Given the description of an element on the screen output the (x, y) to click on. 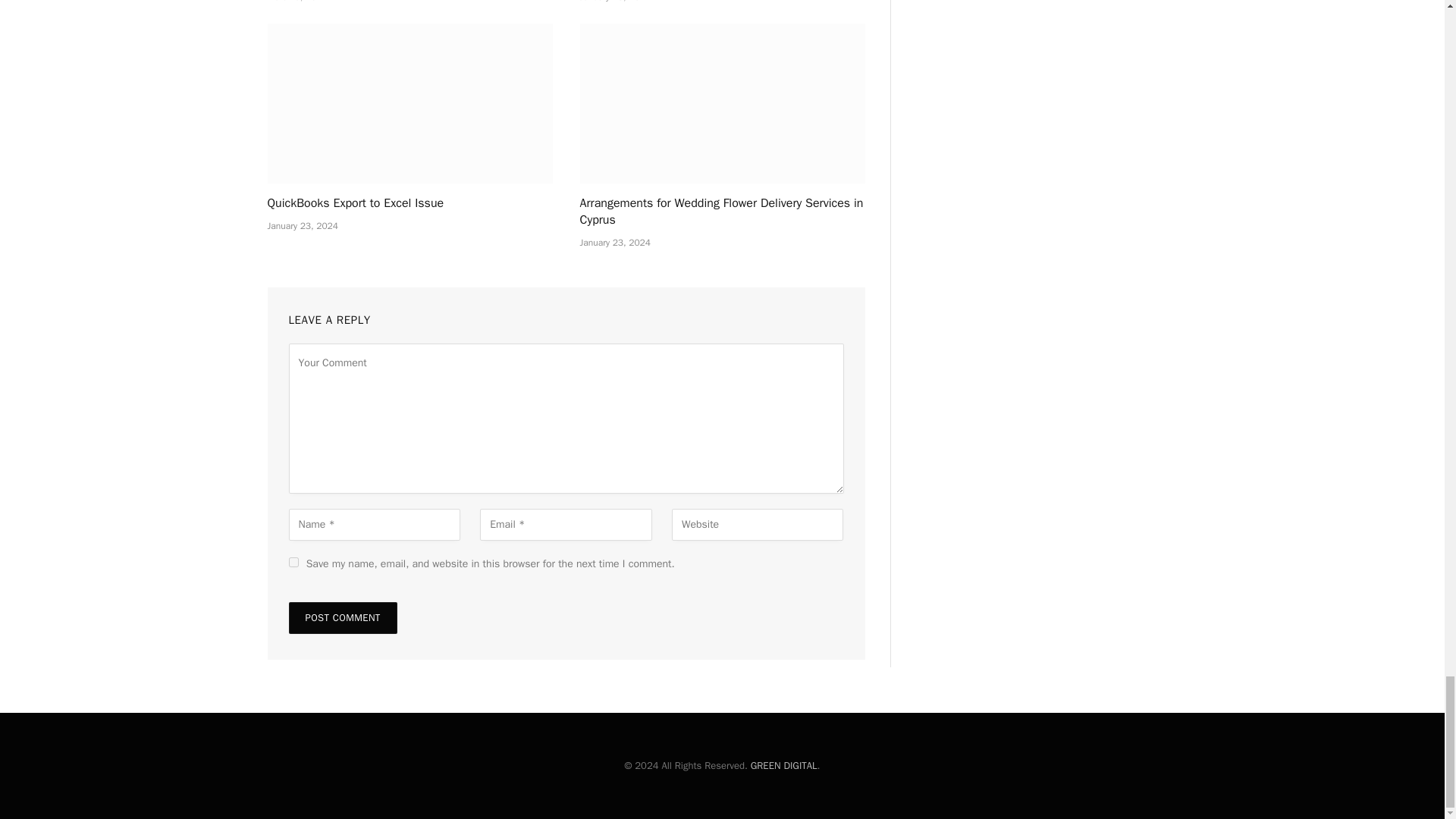
yes (293, 562)
Post Comment (342, 617)
